Given the description of an element on the screen output the (x, y) to click on. 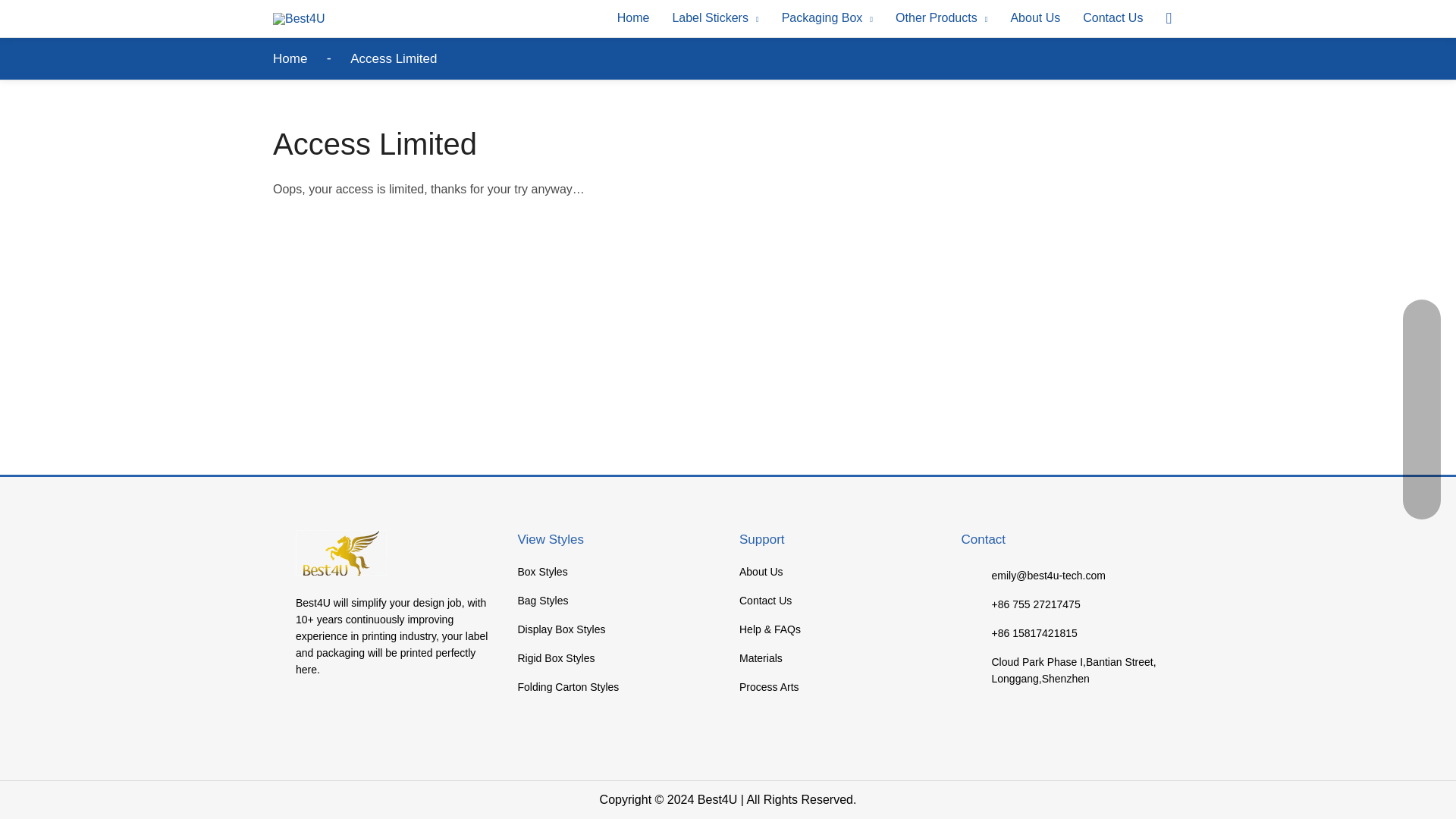
Label Stickers (715, 18)
Home (633, 18)
Packaging Box (826, 18)
